Given the description of an element on the screen output the (x, y) to click on. 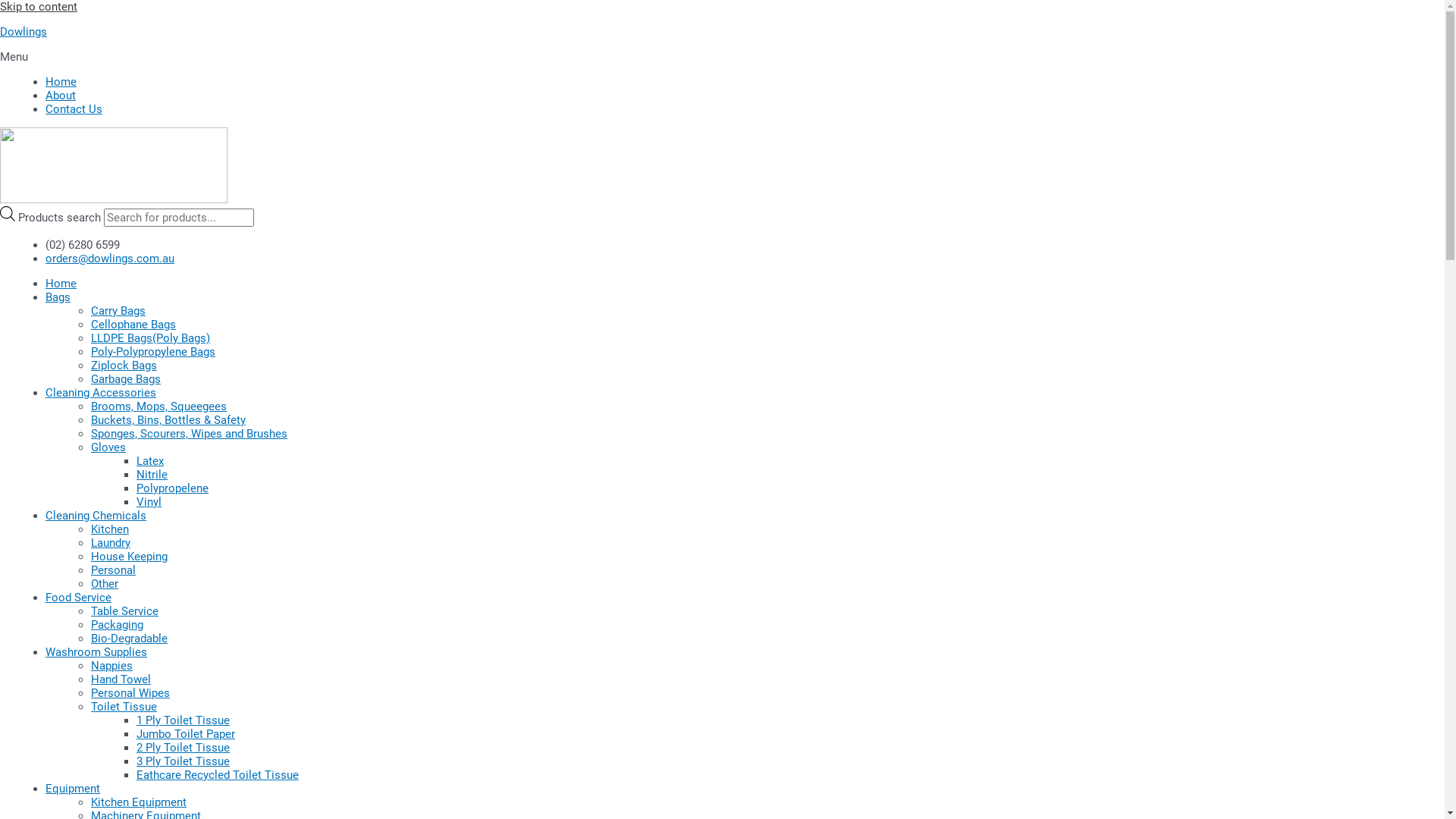
Cleaning Accessories Element type: text (100, 392)
Skip to content Element type: text (38, 6)
Carry Bags Element type: text (118, 310)
Toilet Tissue Element type: text (123, 706)
3 Ply Toilet Tissue Element type: text (182, 761)
1 Ply Toilet Tissue Element type: text (182, 720)
Personal Wipes Element type: text (130, 692)
Latex Element type: text (149, 460)
Nappies Element type: text (111, 665)
Cellophane Bags Element type: text (133, 324)
Personal Element type: text (113, 570)
Kitchen Equipment Element type: text (138, 802)
Eathcare Recycled Toilet Tissue Element type: text (217, 774)
Sponges, Scourers, Wipes and Brushes Element type: text (189, 433)
Jumbo Toilet Paper Element type: text (185, 733)
House Keeping Element type: text (129, 556)
Bio-Degradable Element type: text (129, 638)
Other Element type: text (104, 583)
Brooms, Mops, Squeegees Element type: text (158, 406)
Garbage Bags Element type: text (125, 378)
Bags Element type: text (57, 297)
Equipment Element type: text (72, 788)
Table Service Element type: text (124, 611)
orders@dowlings.com.au Element type: text (109, 258)
Home Element type: text (60, 81)
Food Service Element type: text (78, 597)
Vinyl Element type: text (148, 501)
Kitchen Element type: text (109, 529)
About Element type: text (60, 95)
2 Ply Toilet Tissue Element type: text (182, 747)
Home Element type: text (60, 283)
Contact Us Element type: text (73, 109)
Gloves Element type: text (108, 447)
Packaging Element type: text (117, 624)
Poly-Polypropylene Bags Element type: text (153, 351)
Nitrile Element type: text (151, 474)
Dowlings Element type: text (23, 31)
Polypropelene Element type: text (172, 488)
Buckets, Bins, Bottles & Safety Element type: text (168, 419)
Laundry Element type: text (110, 542)
Cleaning Chemicals Element type: text (95, 515)
Ziplock Bags Element type: text (123, 365)
LLDPE Bags(Poly Bags) Element type: text (150, 338)
Washroom Supplies Element type: text (96, 651)
Hand Towel Element type: text (120, 679)
